Given the description of an element on the screen output the (x, y) to click on. 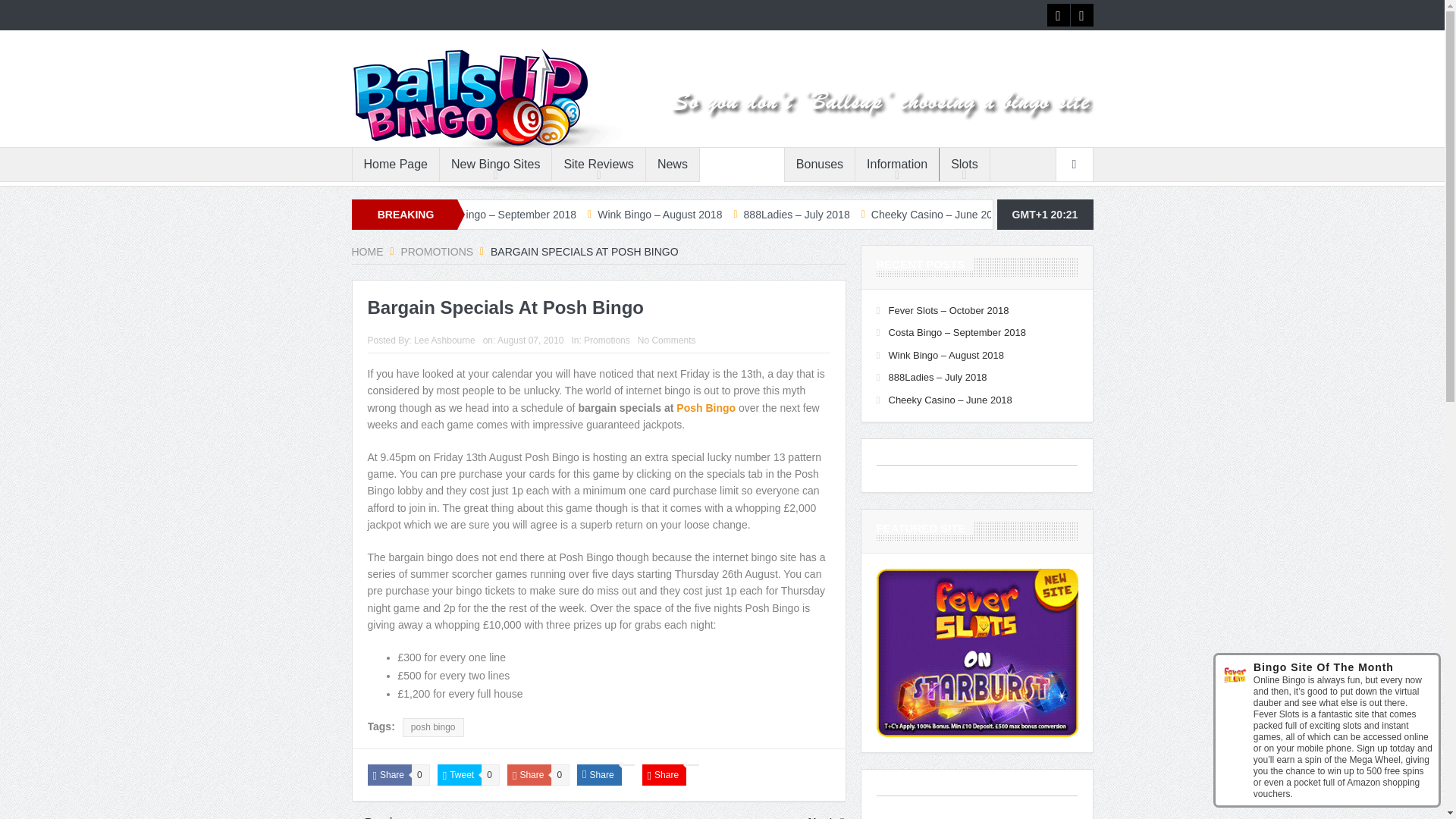
New Bingo Sites (495, 164)
Site Reviews (598, 164)
Bonuses (819, 164)
News (672, 164)
Home Page (395, 164)
Promotions (742, 164)
Information (897, 164)
Slots (964, 164)
Promotions (436, 251)
View all posts in Promotions (606, 339)
